Given the description of an element on the screen output the (x, y) to click on. 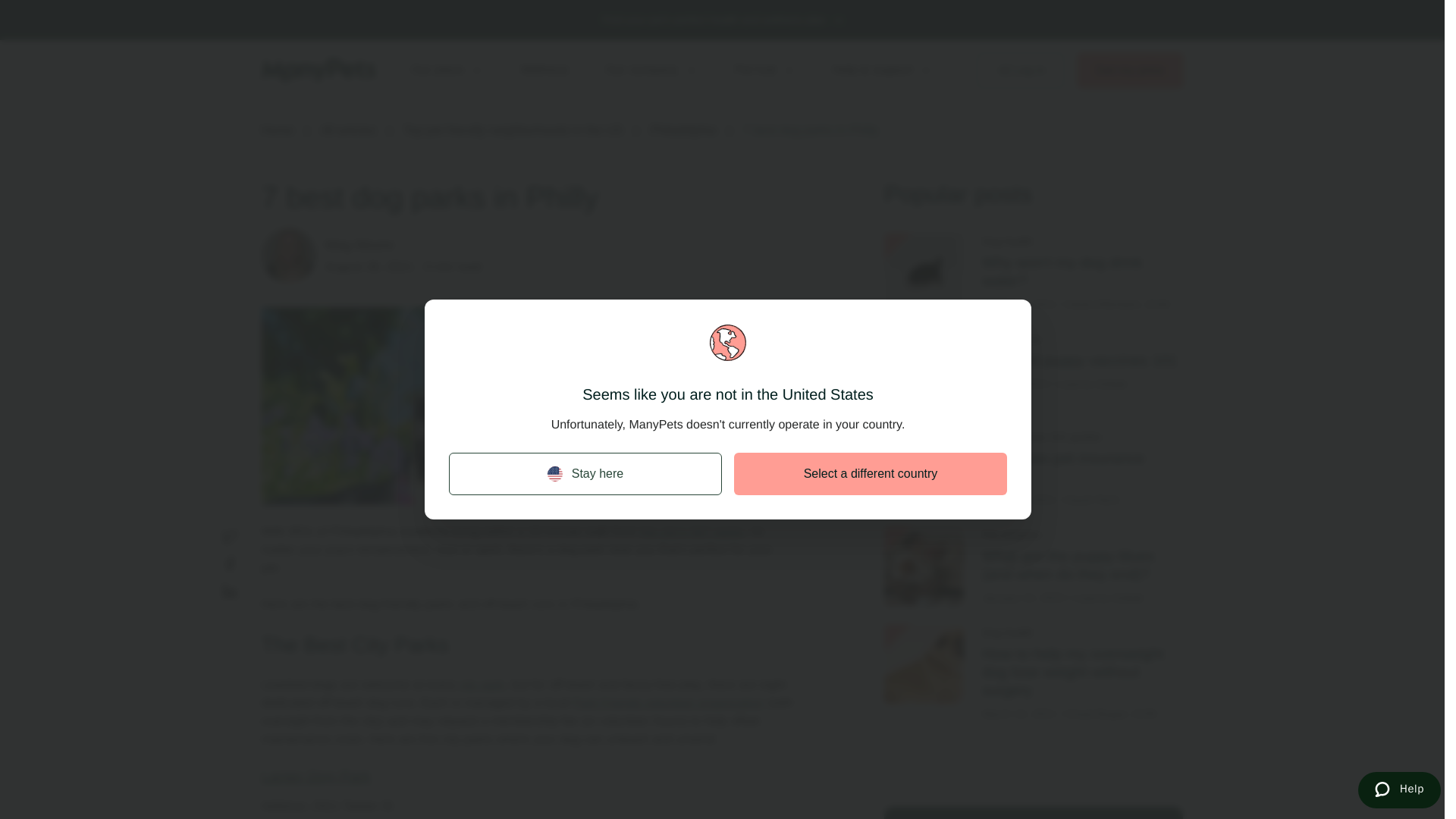
Get my price (1130, 70)
Pet hub (764, 70)
Our plans (446, 70)
Wellness (545, 70)
Log in (1020, 70)
Our company (651, 70)
